Given the description of an element on the screen output the (x, y) to click on. 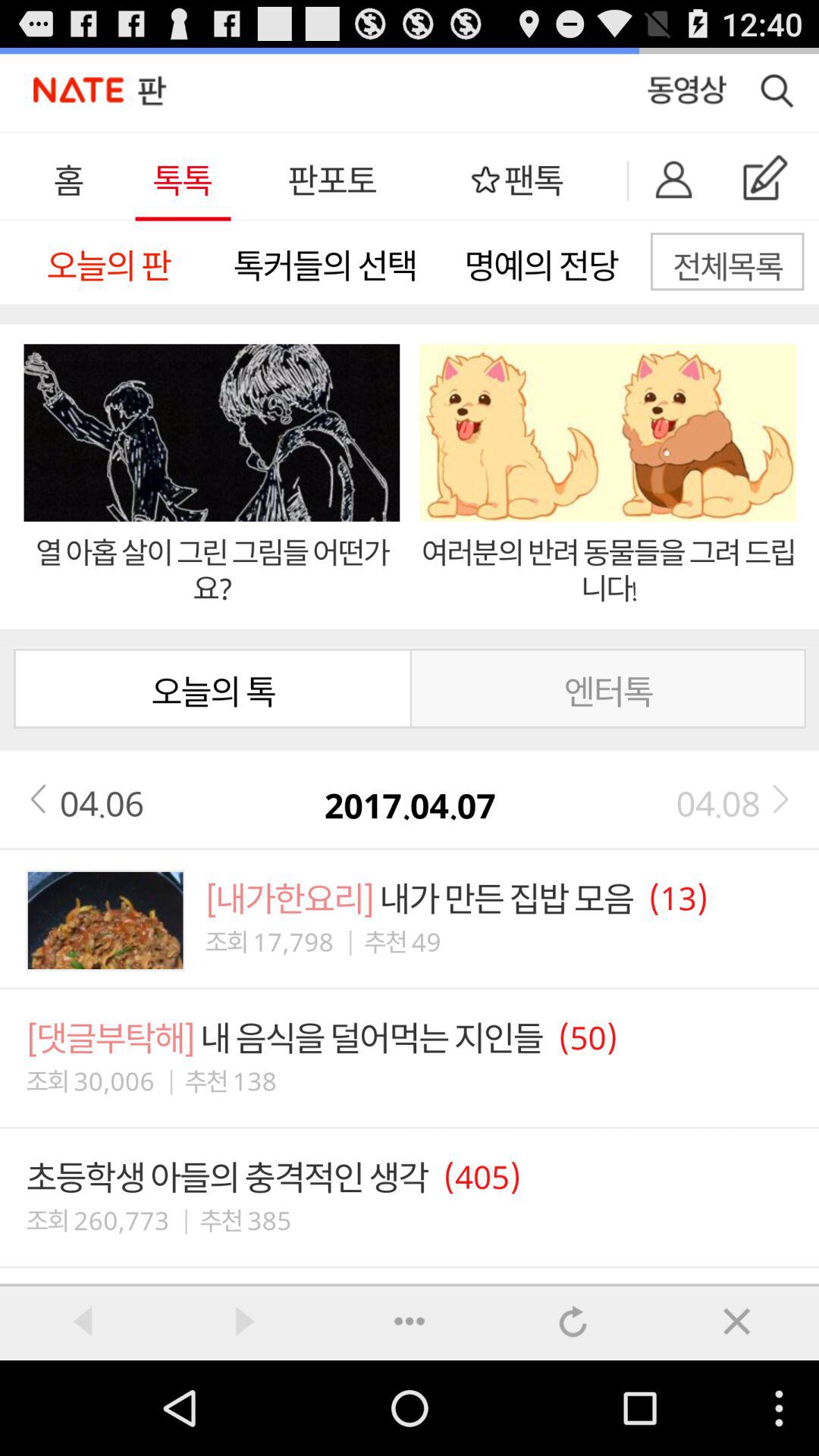
close (409, 1320)
